Given the description of an element on the screen output the (x, y) to click on. 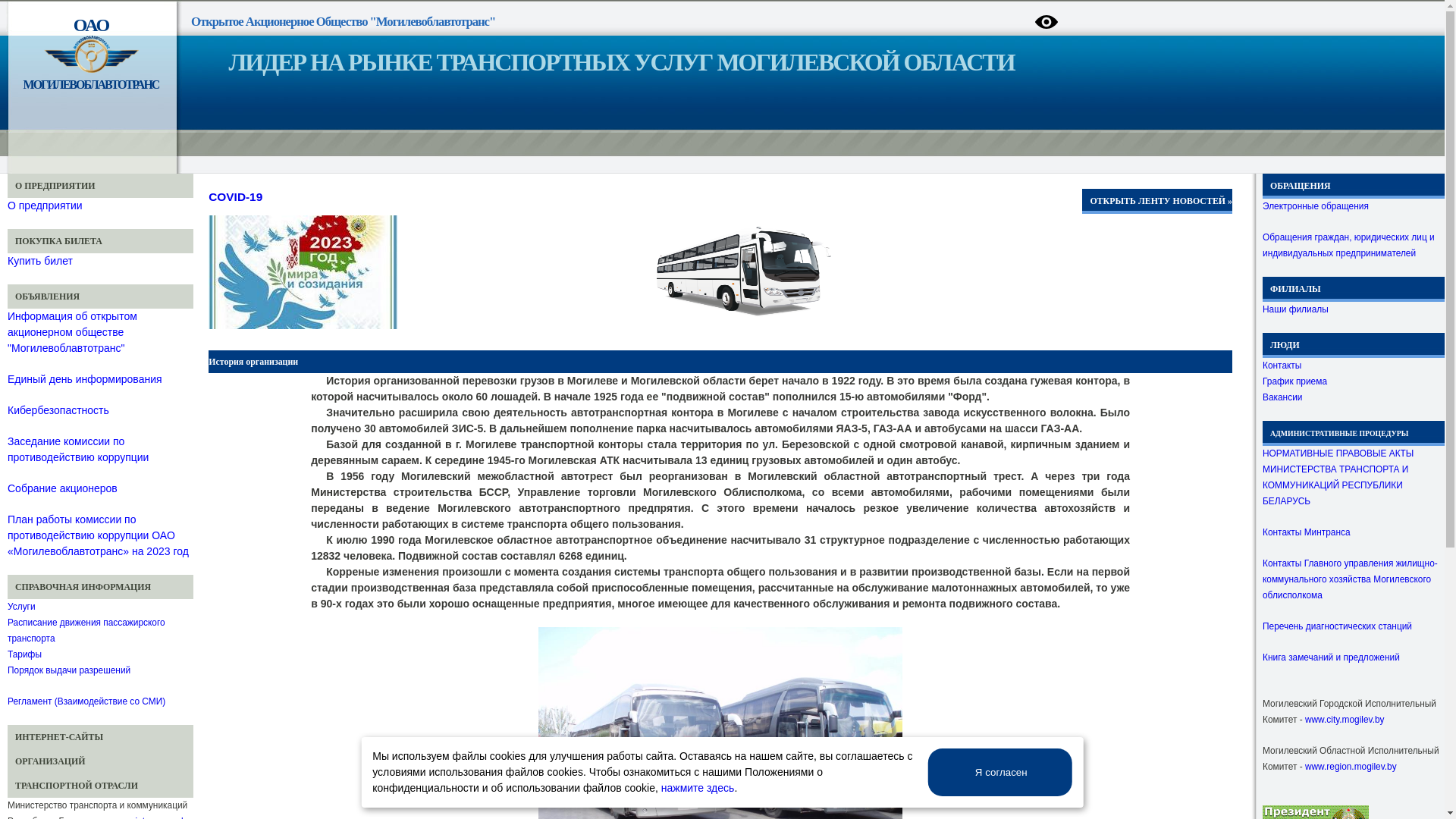
www.city.mogilev.by Element type: text (1344, 719)
COVID-19 Element type: text (276, 196)
www.region.mogilev.by Element type: text (1350, 766)
